Given the description of an element on the screen output the (x, y) to click on. 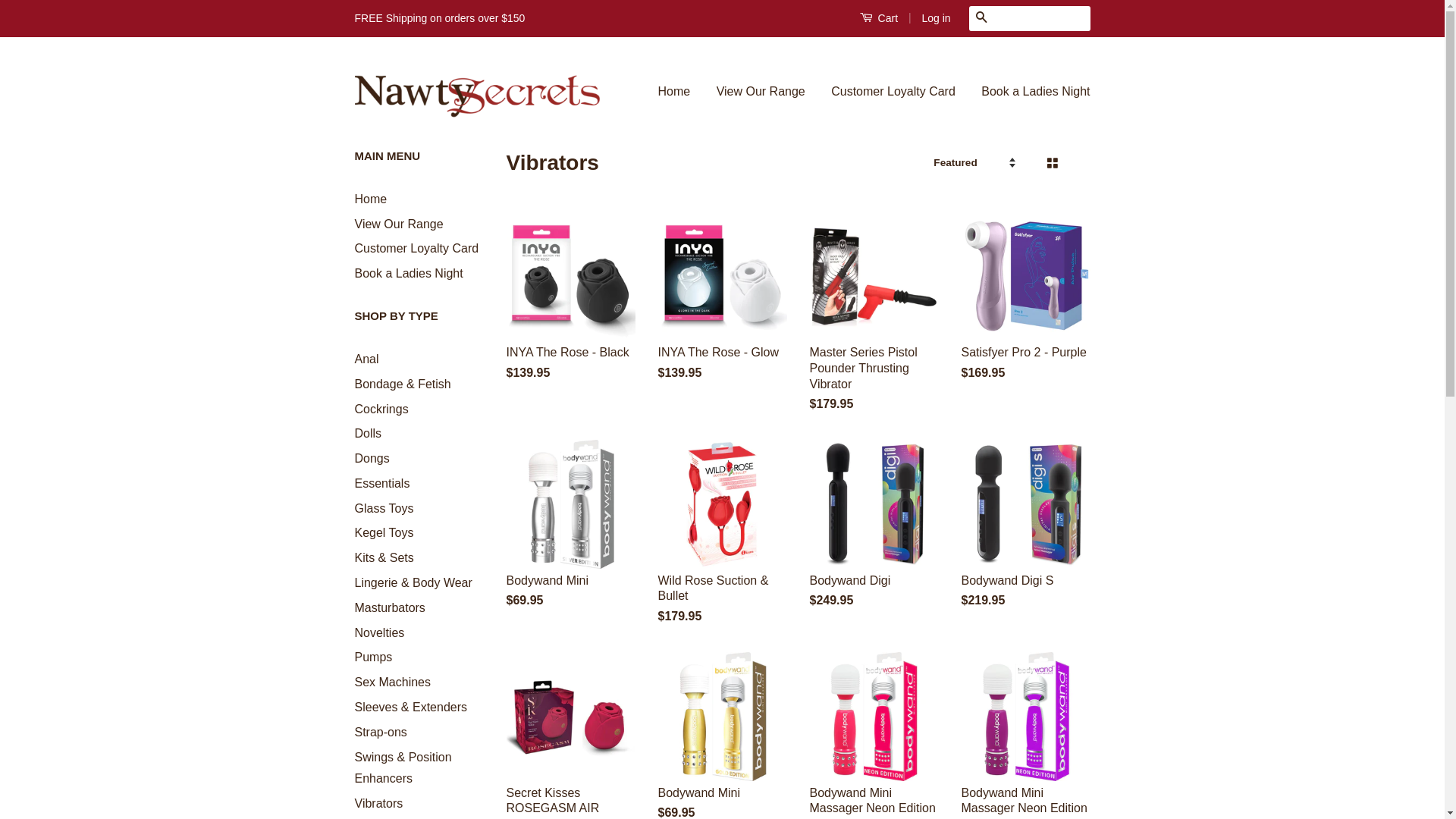
Kits & Sets Element type: text (384, 557)
Novelties Element type: text (379, 632)
Bodywand Mini
$69.95 Element type: text (570, 537)
Home Element type: text (680, 91)
Pumps Element type: text (373, 656)
Satisfyer Pro 2 - Purple
$169.95 Element type: text (1025, 309)
List View Element type: text (1076, 162)
Grid View Element type: text (1050, 162)
Sex Machines Element type: text (392, 681)
Bondage & Fetish Element type: text (402, 383)
Strap-ons Element type: text (380, 731)
Customer Loyalty Card Element type: text (892, 91)
Bodywand Digi
$249.95 Element type: text (873, 537)
Dolls Element type: text (368, 432)
Search Element type: text (981, 18)
INYA The Rose - Black
$139.95 Element type: text (570, 309)
Essentials Element type: text (382, 482)
Glass Toys Element type: text (384, 508)
Swings & Position Enhancers Element type: text (402, 767)
Vibrators Element type: text (378, 803)
Masturbators Element type: text (389, 607)
Master Series Pistol Pounder Thrusting Vibrator
$179.95 Element type: text (873, 325)
Anal Element type: text (366, 358)
Log in Element type: text (935, 18)
View Our Range Element type: text (398, 223)
Cockrings Element type: text (381, 407)
INYA The Rose - Glow
$139.95 Element type: text (722, 309)
Dongs Element type: text (371, 457)
Book a Ladies Night Element type: text (408, 272)
Cart Element type: text (878, 17)
Customer Loyalty Card Element type: text (416, 247)
Sleeves & Extenders Element type: text (410, 706)
Bodywand Digi S
$219.95 Element type: text (1025, 537)
Book a Ladies Night Element type: text (1029, 91)
View Our Range Element type: text (760, 91)
Wild Rose Suction & Bullet
$179.95 Element type: text (722, 545)
Home Element type: text (370, 198)
Kegel Toys Element type: text (384, 532)
Lingerie & Body Wear Element type: text (413, 582)
